Given the description of an element on the screen output the (x, y) to click on. 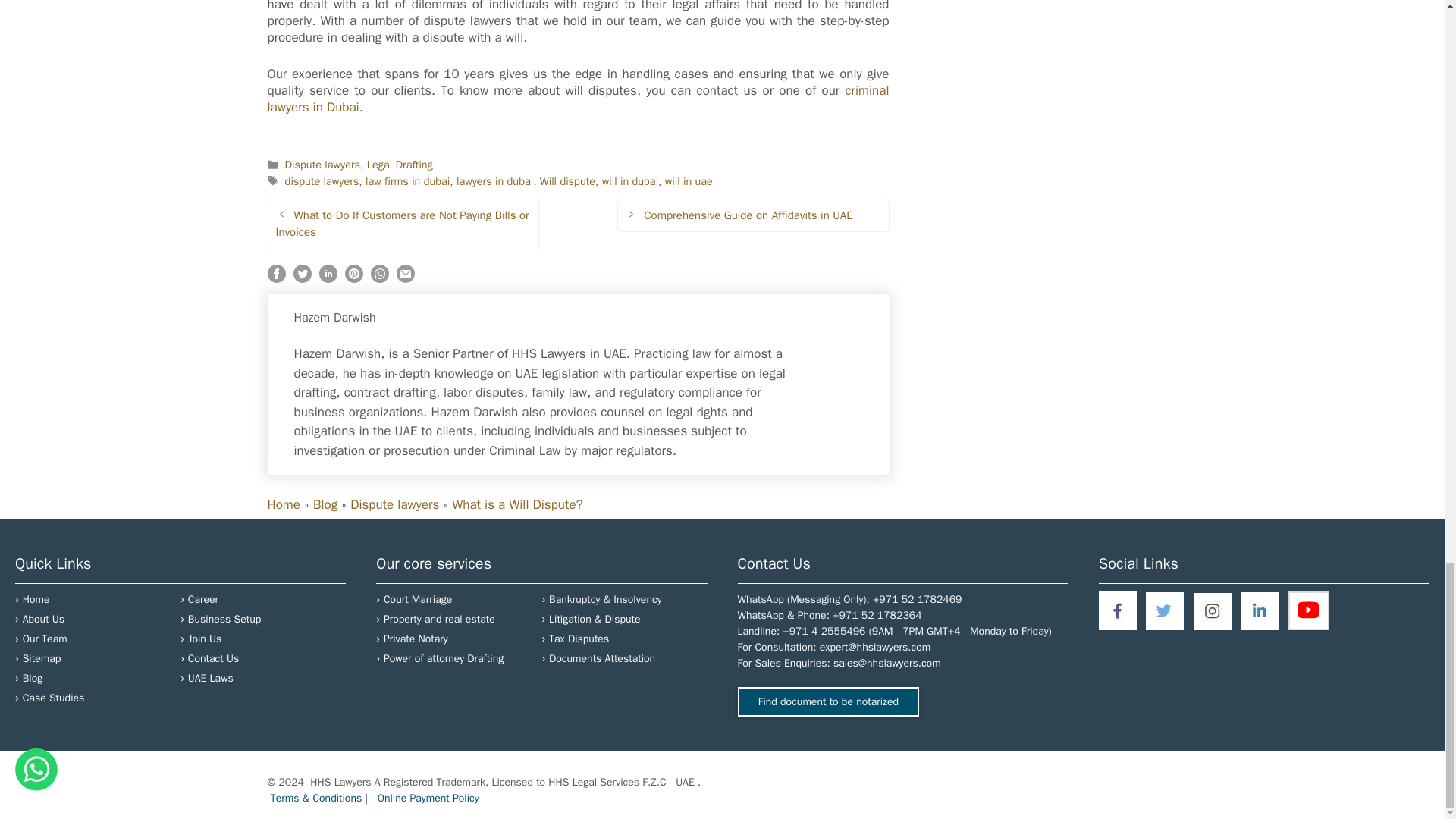
Share this post! (327, 278)
Tweet this post! (301, 278)
Pin this post! (352, 278)
Share this post! (275, 278)
Share this post! (378, 278)
Email this post! (404, 278)
